Given the description of an element on the screen output the (x, y) to click on. 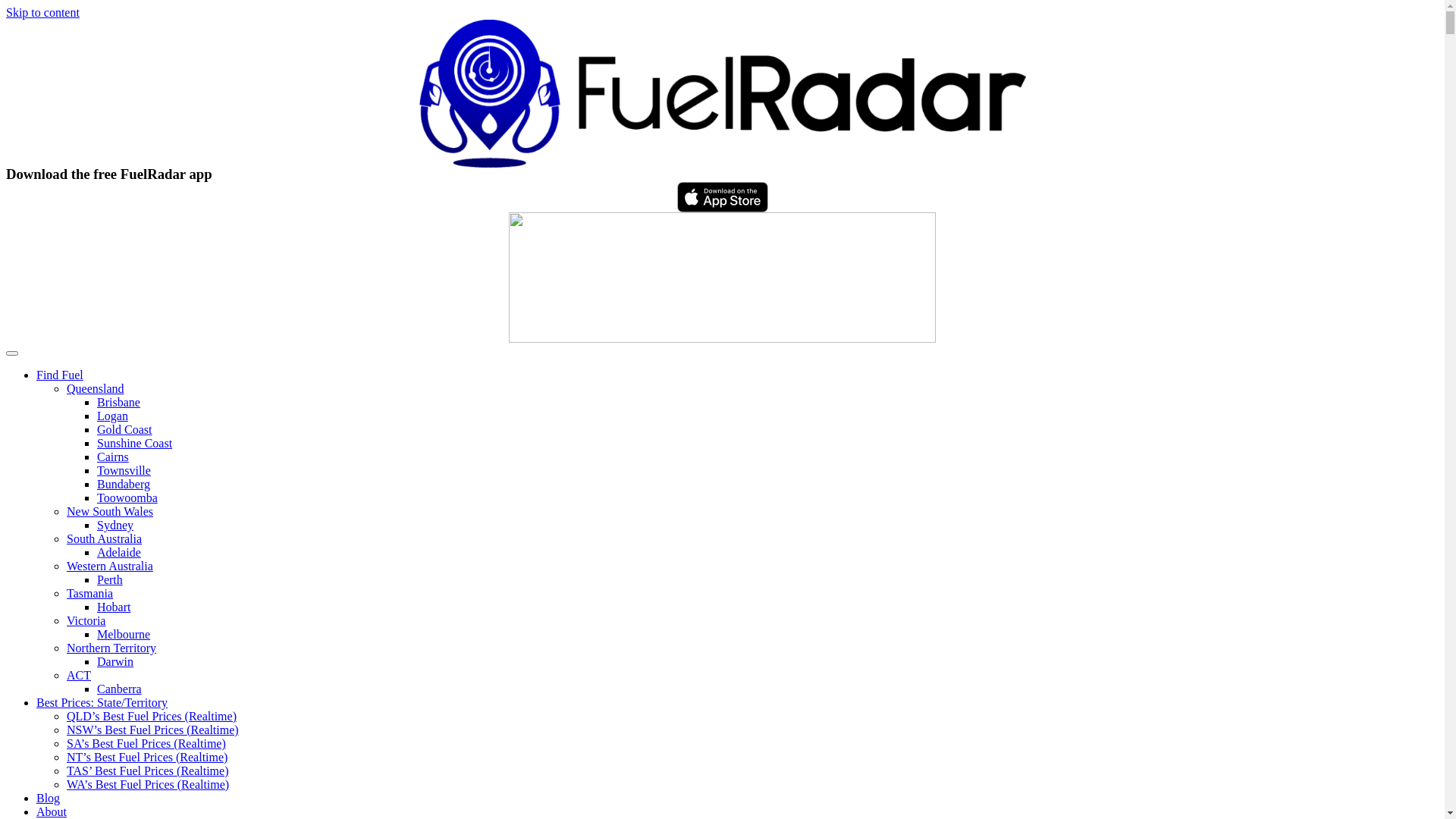
Tasmania Element type: text (89, 592)
Cairns Element type: text (112, 456)
Western Australia Element type: text (109, 565)
ACT Element type: text (78, 674)
Toowoomba Element type: text (127, 497)
Victoria Element type: text (85, 620)
Darwin Element type: text (115, 661)
Queensland Element type: text (95, 388)
Northern Territory Element type: text (111, 647)
Bundaberg Element type: text (123, 483)
Best Prices: State/Territory Element type: text (101, 702)
Brisbane Element type: text (118, 401)
South Australia Element type: text (103, 538)
Canberra Element type: text (119, 688)
New South Wales Element type: text (109, 511)
Sydney Element type: text (115, 524)
Adelaide Element type: text (119, 552)
About Element type: text (51, 811)
Hobart Element type: text (113, 606)
Find Fuel Element type: text (59, 374)
Townsville Element type: text (123, 470)
Gold Coast Element type: text (124, 429)
Skip to content Element type: text (42, 12)
Melbourne Element type: text (123, 633)
Blog Element type: text (47, 797)
Perth Element type: text (109, 579)
Sunshine Coast Element type: text (134, 442)
Logan Element type: text (112, 415)
